Given the description of an element on the screen output the (x, y) to click on. 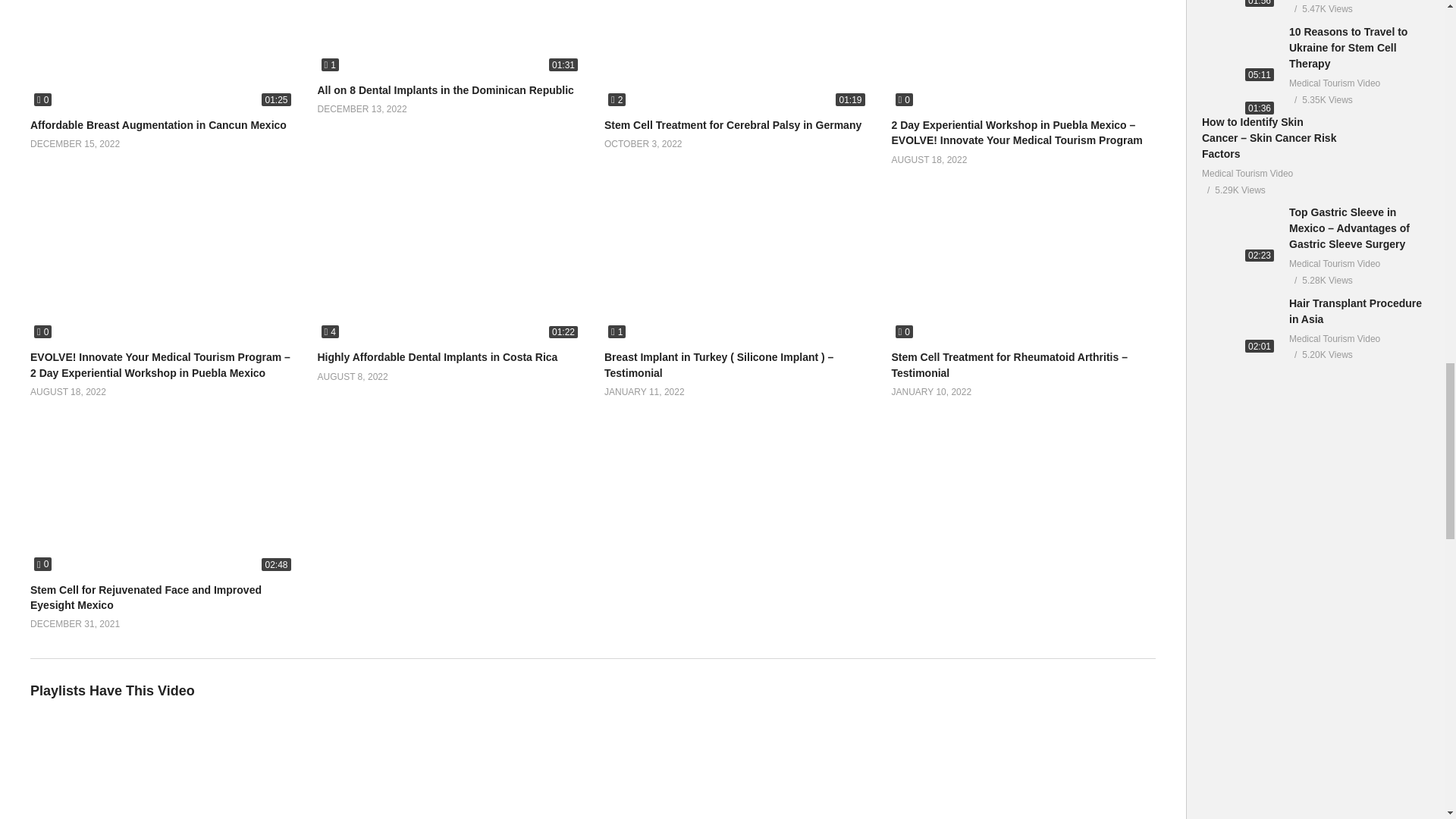
All on 8 Dental Implants in the Dominican Republic (445, 90)
Stem Cell Treatment for Cerebral Palsy in Germany (732, 124)
Affordable Breast Augmentation in Cancun Mexico (162, 54)
Affordable Breast Augmentation in Cancun Mexico (158, 124)
Stem Cell Treatment for Cerebral Palsy in Germany (736, 54)
Affordable Breast Augmentation in Cancun Mexico (158, 124)
All on 8 Dental Implants in the Dominican Republic (448, 37)
